Given the description of an element on the screen output the (x, y) to click on. 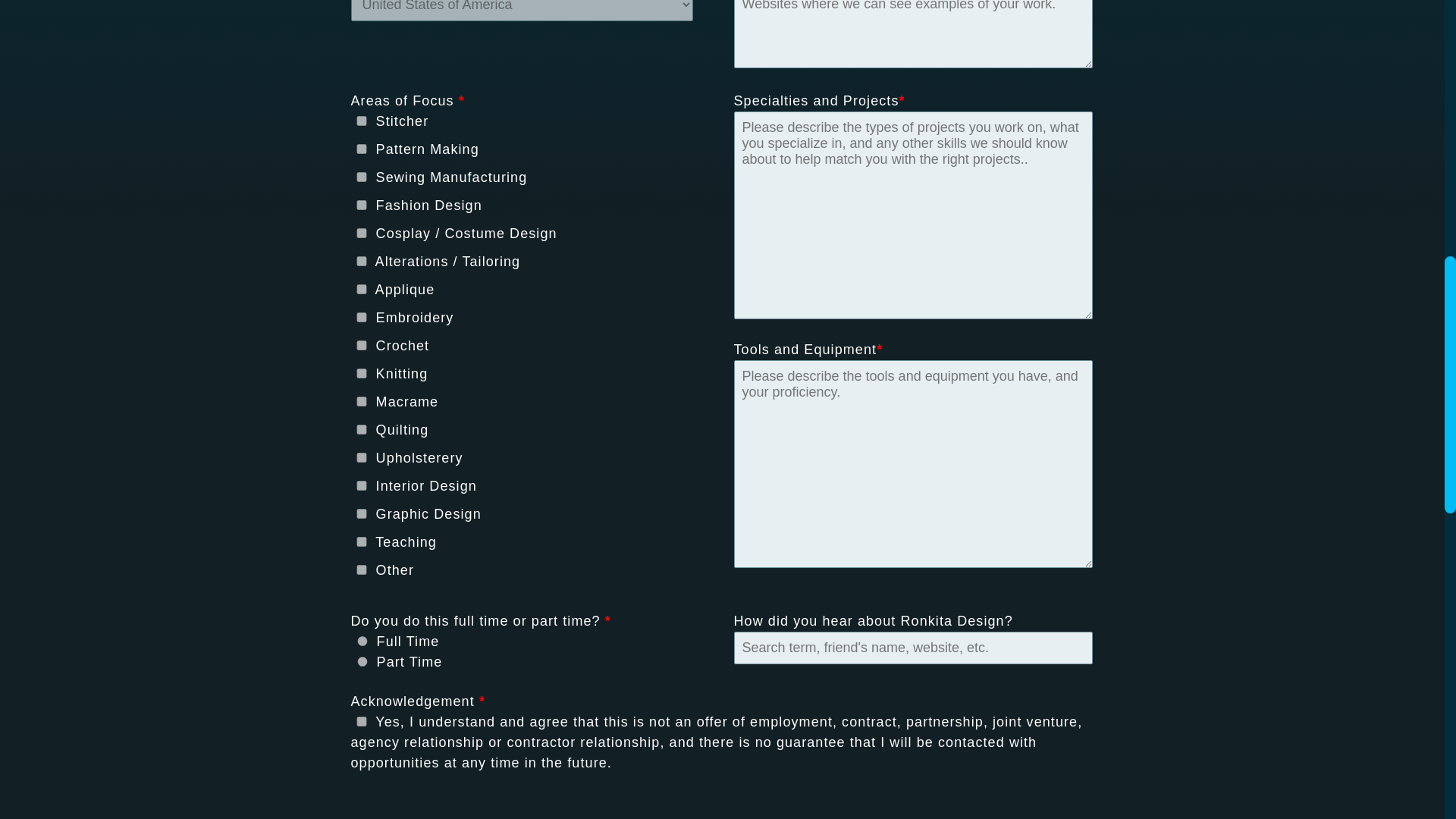
Fashion Design (360, 204)
Crochet (360, 345)
Knitting (360, 373)
Macrame (360, 401)
Embroidery (360, 317)
Interior Design (360, 485)
Applique (360, 289)
Upholsterery (360, 457)
Sewing Manufacturing (360, 176)
Sewist (360, 121)
